Given the description of an element on the screen output the (x, y) to click on. 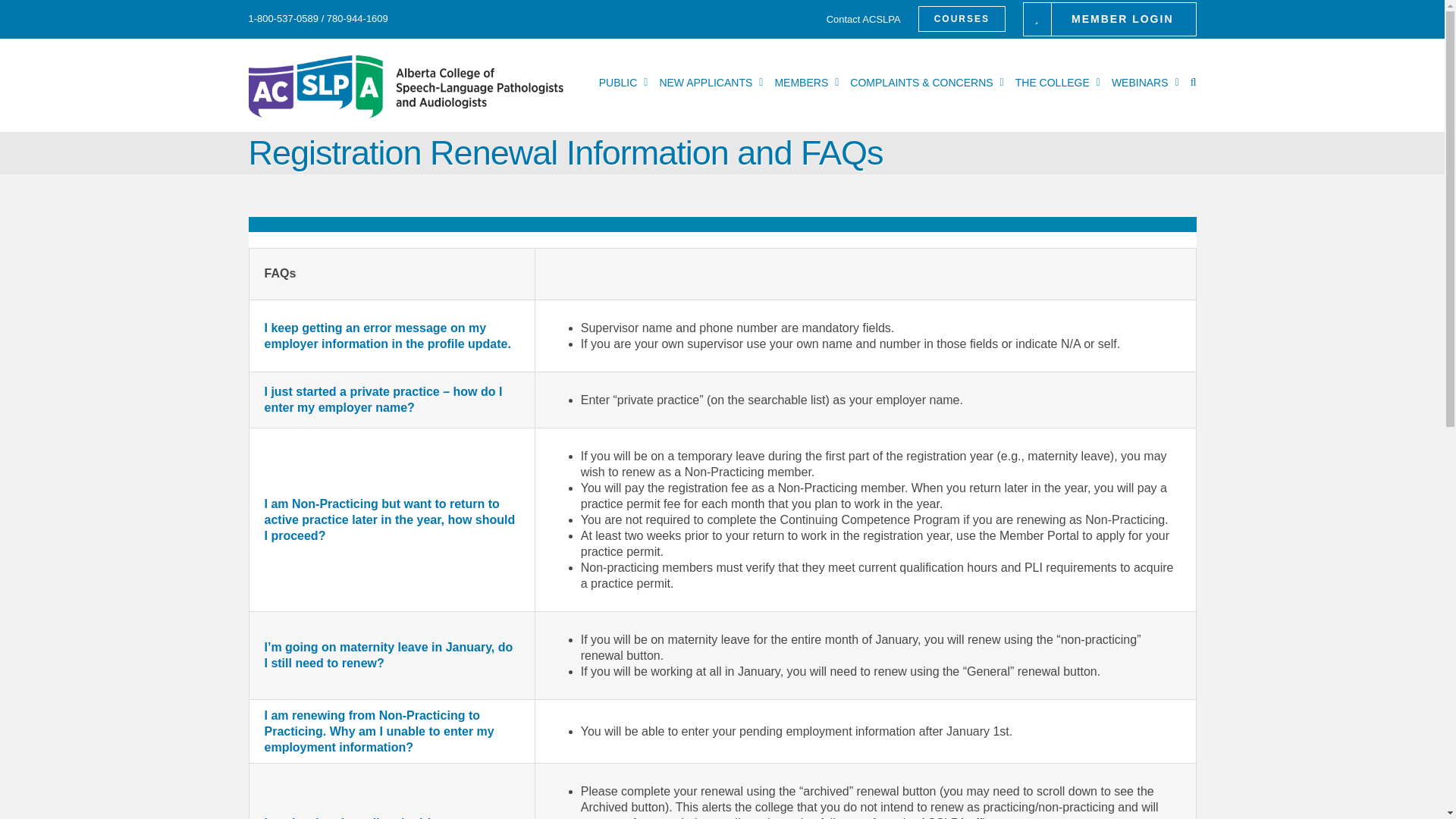
THE COLLEGE (1057, 82)
COURSES (953, 18)
MEMBER LOGIN (1100, 18)
NEW APPLICANTS (710, 82)
Contact ACSLPA (855, 18)
